Given the description of an element on the screen output the (x, y) to click on. 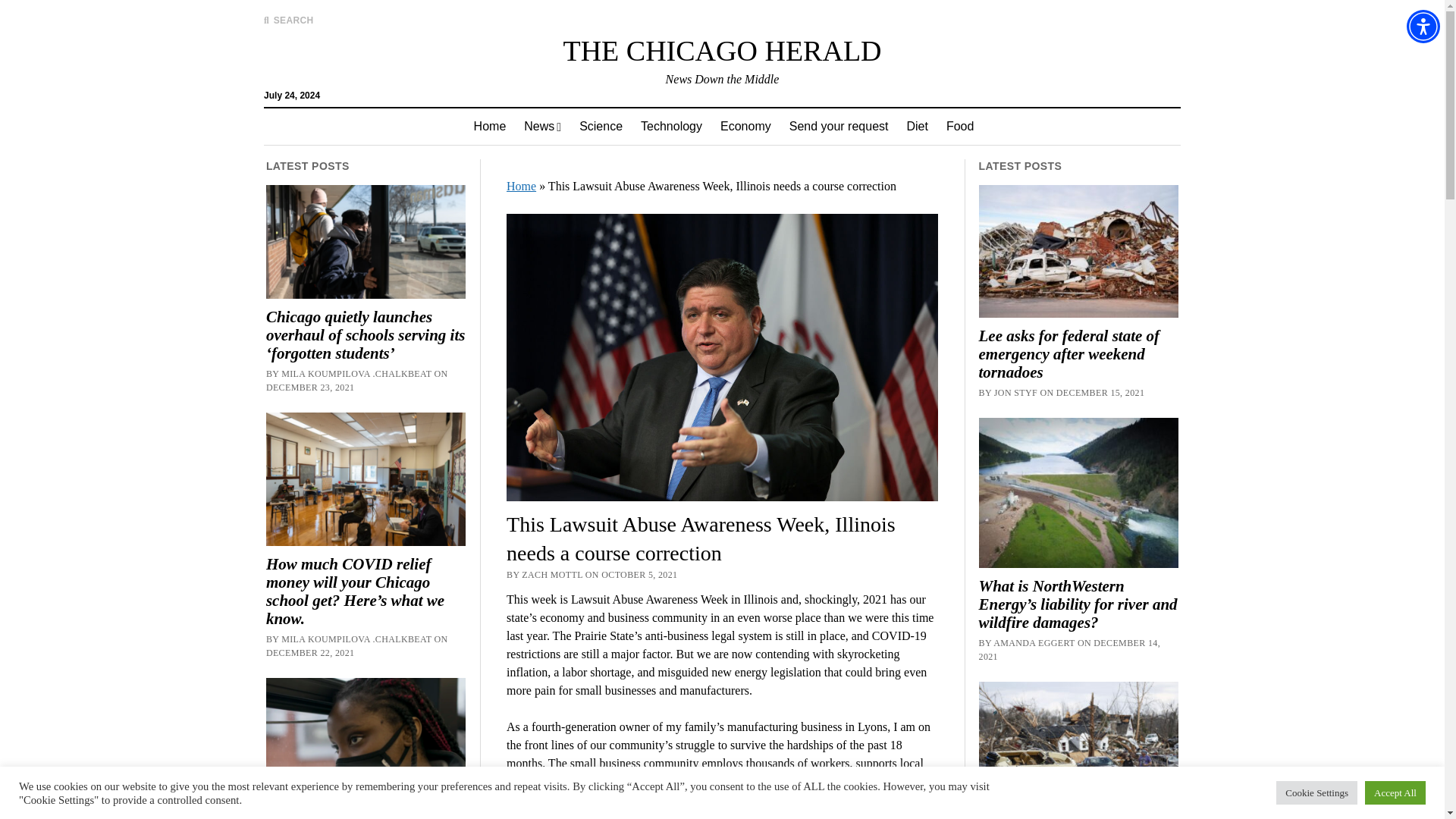
Diet (916, 126)
Food (959, 126)
News (542, 126)
Send your request (839, 126)
Search (945, 129)
Economy (745, 126)
SEARCH (288, 20)
Accessibility Menu (1422, 26)
Home (489, 126)
Science (600, 126)
Home (489, 126)
THE CHICAGO HERALD (721, 50)
Technology (671, 126)
